Given the description of an element on the screen output the (x, y) to click on. 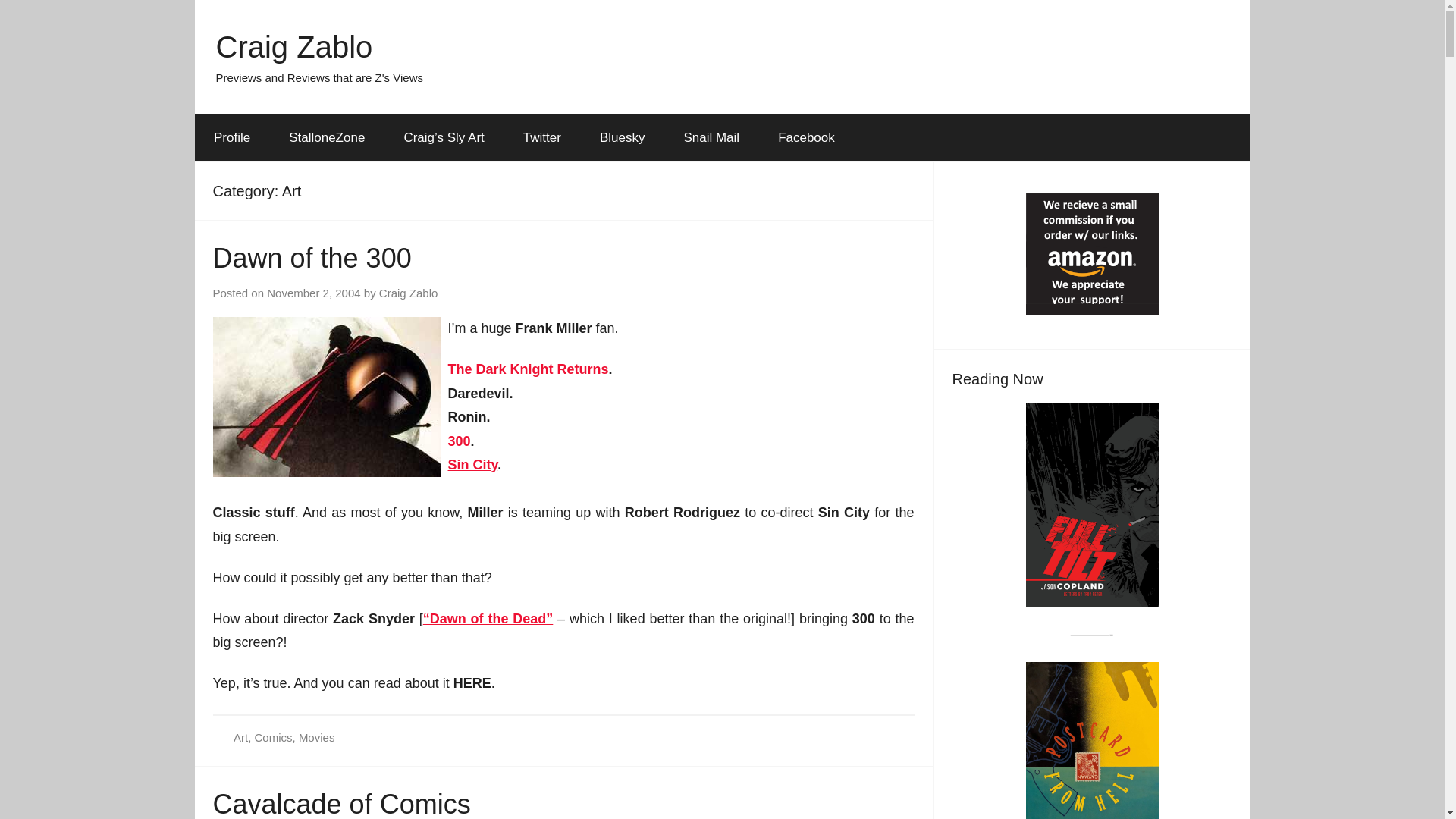
300 (458, 441)
Craig Zablo (408, 293)
Art (239, 737)
Snail Mail (710, 137)
Bluesky (621, 137)
November 2, 2004 (312, 293)
Craig Zablo (293, 46)
StalloneZone (326, 137)
Cavalcade of Comics (341, 803)
The Dark Knight Returns (527, 368)
View all posts by Craig Zablo (408, 293)
Movies (316, 737)
Sin City (471, 464)
Comics (273, 737)
Dawn of the 300 (311, 257)
